Given the description of an element on the screen output the (x, y) to click on. 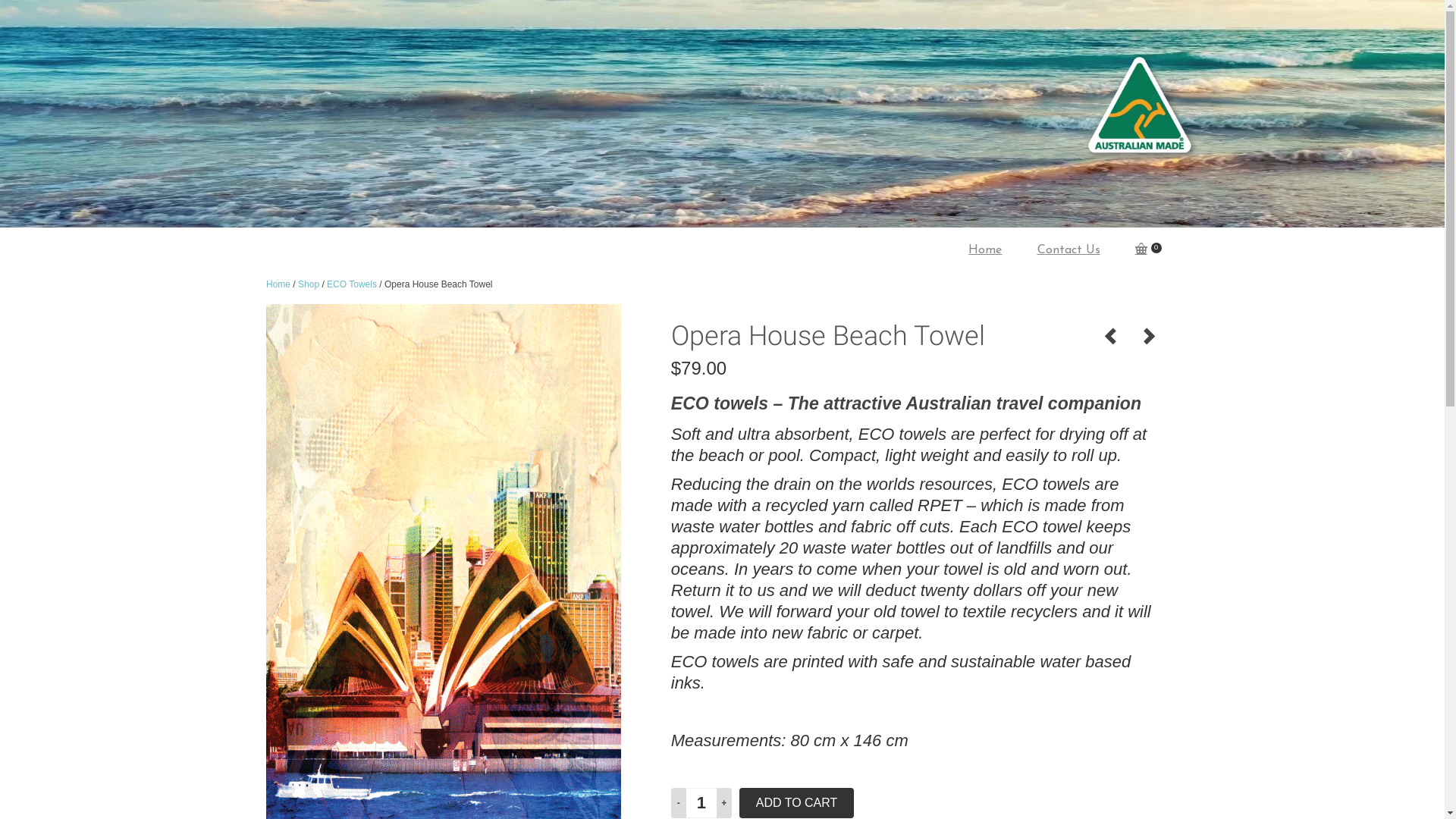
ADD TO CART Element type: text (796, 802)
0 Element type: text (1149, 250)
Sydney Harbour Beach Towel Element type: hover (1148, 336)
ECO Towels Element type: text (351, 284)
Qty Element type: hover (701, 802)
Home Element type: text (278, 284)
Contact Us Element type: text (1070, 250)
Home Element type: text (987, 250)
Shop Element type: text (308, 284)
Australia Beach Towel Element type: hover (1110, 336)
